Given the description of an element on the screen output the (x, y) to click on. 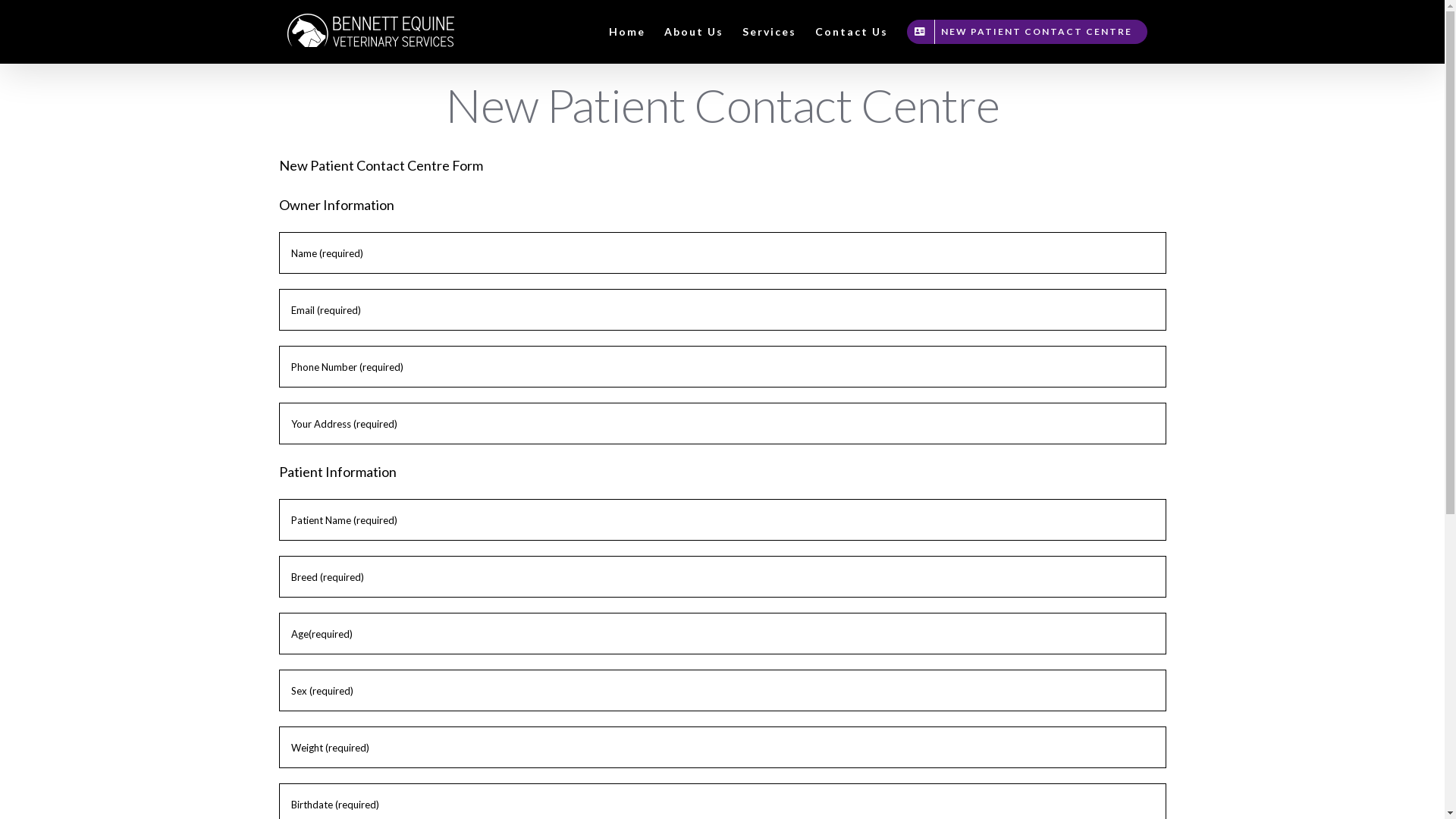
About Us Element type: text (693, 31)
Services Element type: text (768, 31)
NEW PATIENT CONTACT CENTRE Element type: text (1026, 31)
Home Element type: text (626, 31)
Contact Us Element type: text (850, 31)
